Given the description of an element on the screen output the (x, y) to click on. 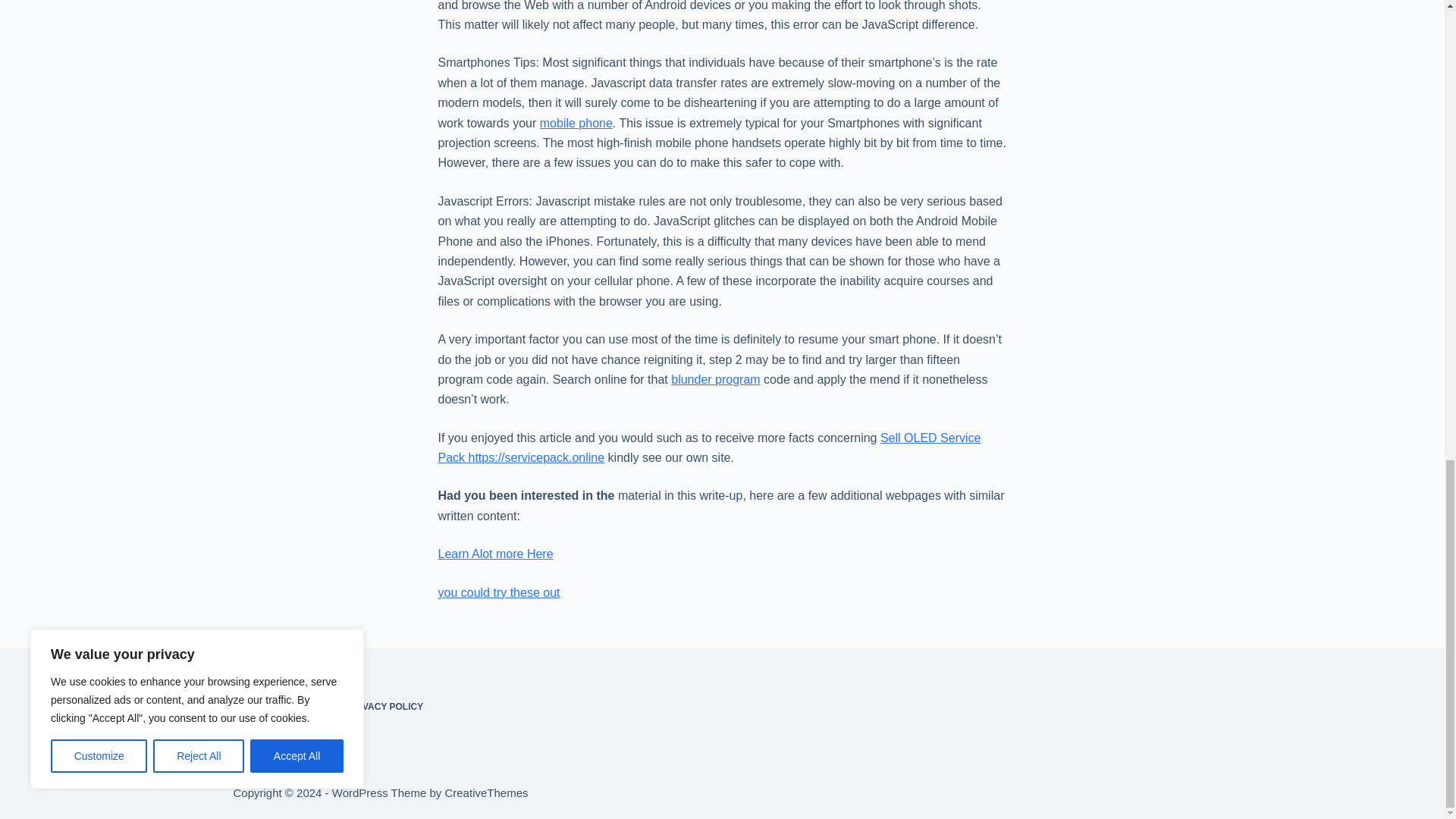
mobile phone (576, 123)
CONTACT (306, 707)
Learn Alot more Here (495, 553)
PRIVACY POLICY (384, 707)
you could try these out (499, 592)
ABOUT (249, 707)
CreativeThemes (485, 792)
blunder program (715, 379)
